Given the description of an element on the screen output the (x, y) to click on. 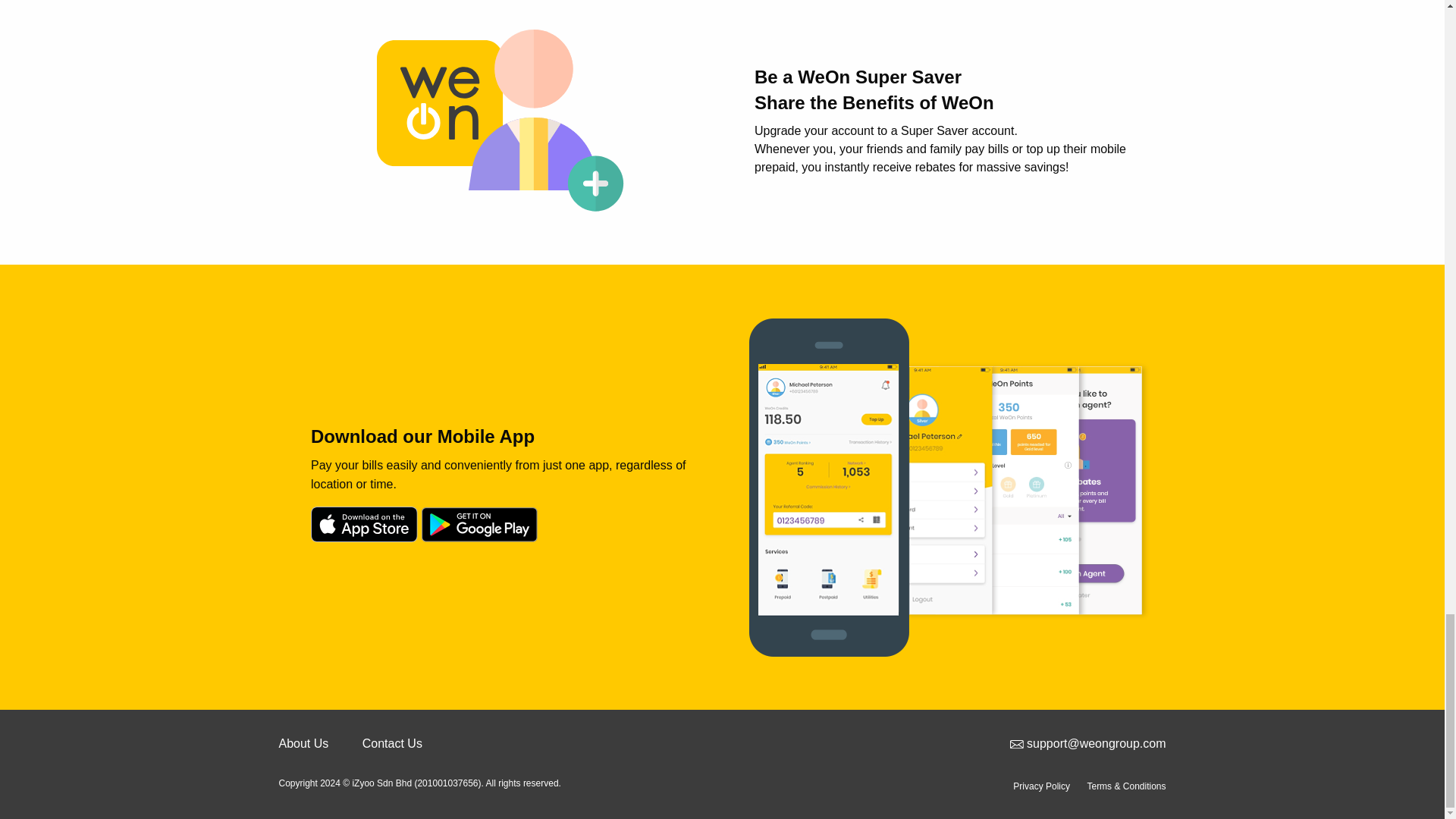
About Us (304, 743)
Contact Us (392, 743)
Privacy Policy (1043, 786)
